Given the description of an element on the screen output the (x, y) to click on. 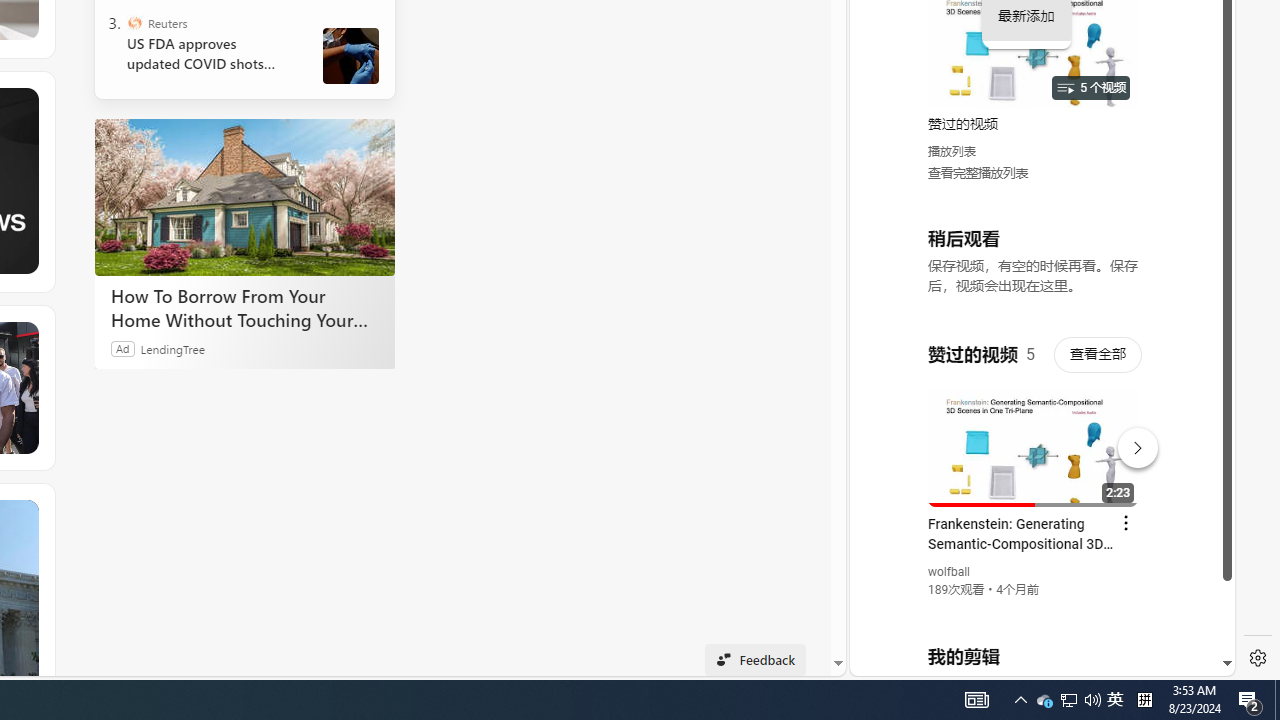
Global web icon (888, 432)
Click to scroll right (1196, 83)
wolfball (949, 572)
How To Borrow From Your Home Without Touching Your Mortgage (244, 307)
Actions for this site (1131, 443)
Reuters (134, 22)
